Given the description of an element on the screen output the (x, y) to click on. 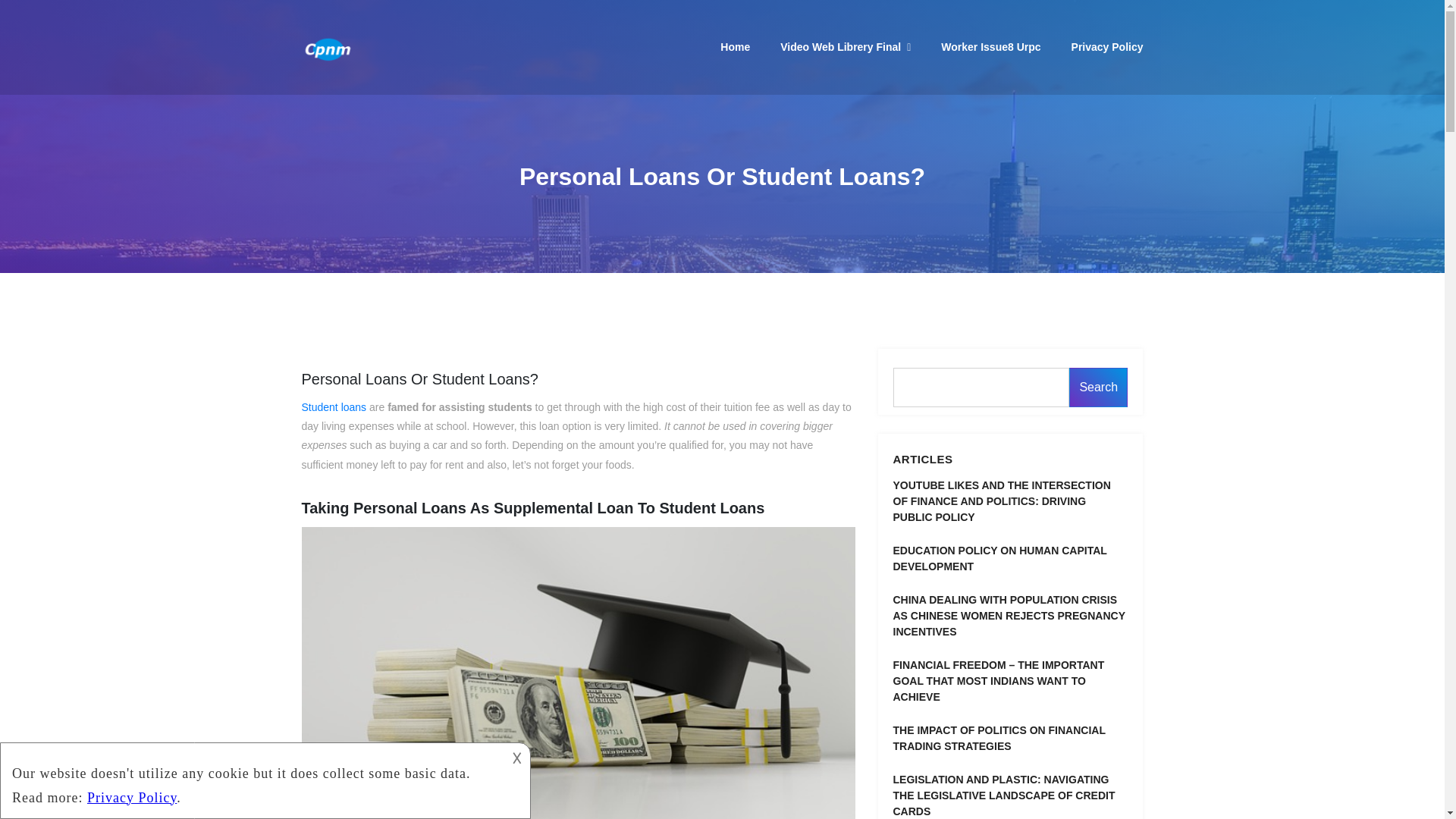
Privacy Policy (1106, 47)
Privacy Policy (1106, 47)
Home (734, 47)
Student loans (333, 407)
Home (734, 47)
description (252, 780)
Video Web Librery Final (845, 47)
Search (1097, 387)
THE IMPACT OF POLITICS ON FINANCIAL TRADING STRATEGIES (1010, 738)
Worker Issue8 Urpc (990, 47)
Worker Issue8 Urpc (990, 47)
Video Web Librery Final (845, 47)
